Given the description of an element on the screen output the (x, y) to click on. 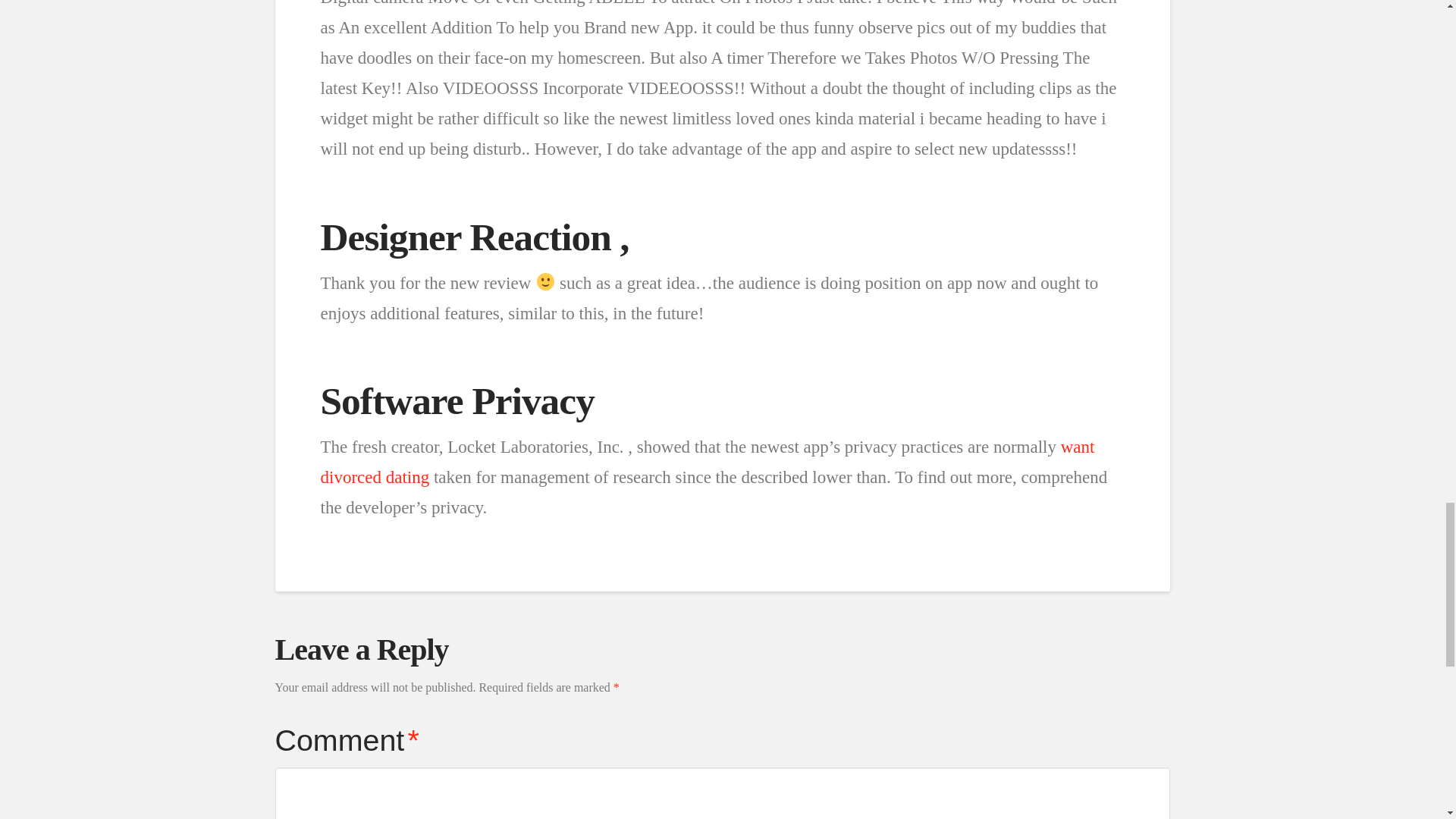
want divorced dating (707, 461)
